Given the description of an element on the screen output the (x, y) to click on. 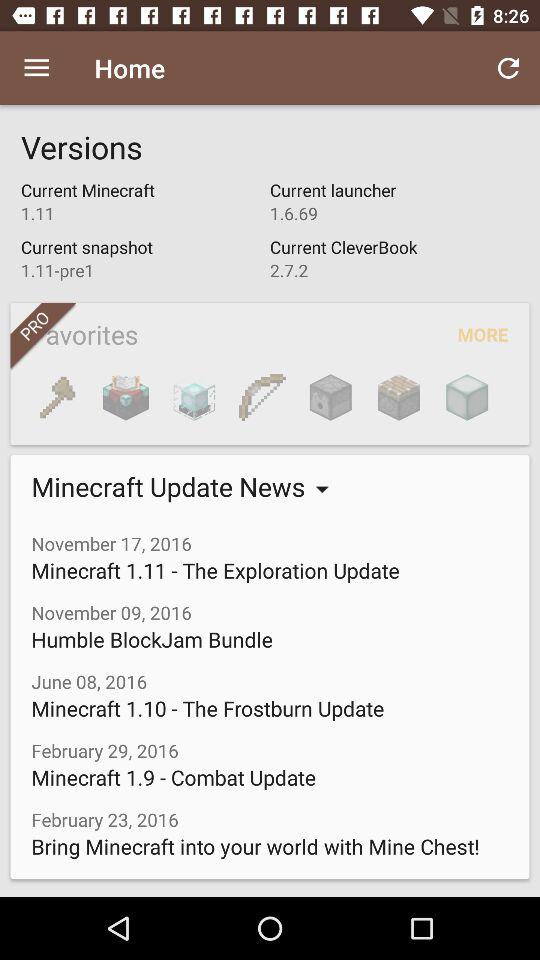
click on the icon at the top right of the page (508, 68)
click on the text which is below the text 1669 (394, 259)
select minecraft update news from the dropdown of the page (172, 486)
